Given the description of an element on the screen output the (x, y) to click on. 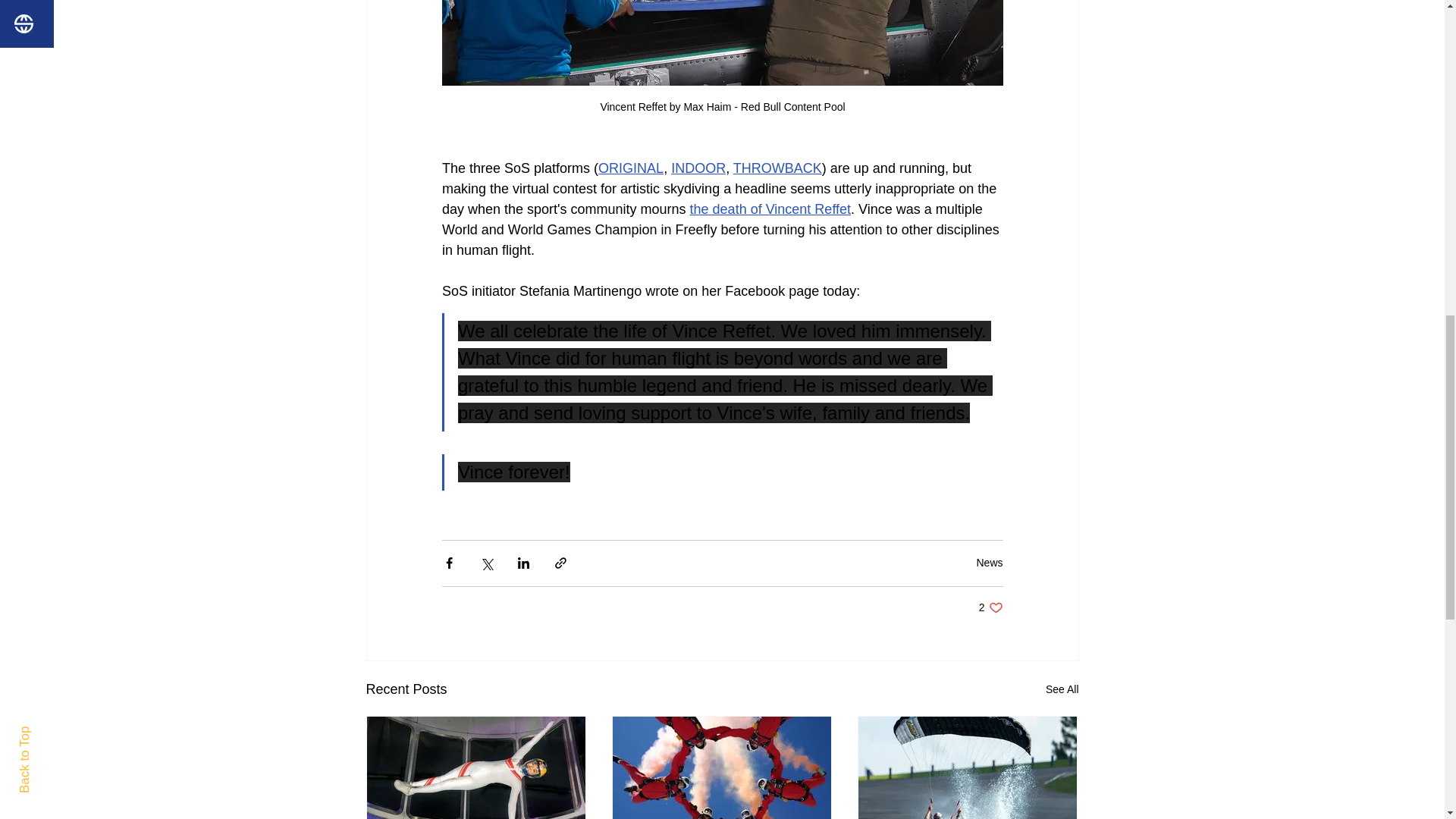
See All (1061, 689)
ORIGINAL (630, 168)
the death of Vincent Reffet (990, 607)
News (769, 209)
THROWBACK (989, 562)
INDOOR (776, 168)
